Given the description of an element on the screen output the (x, y) to click on. 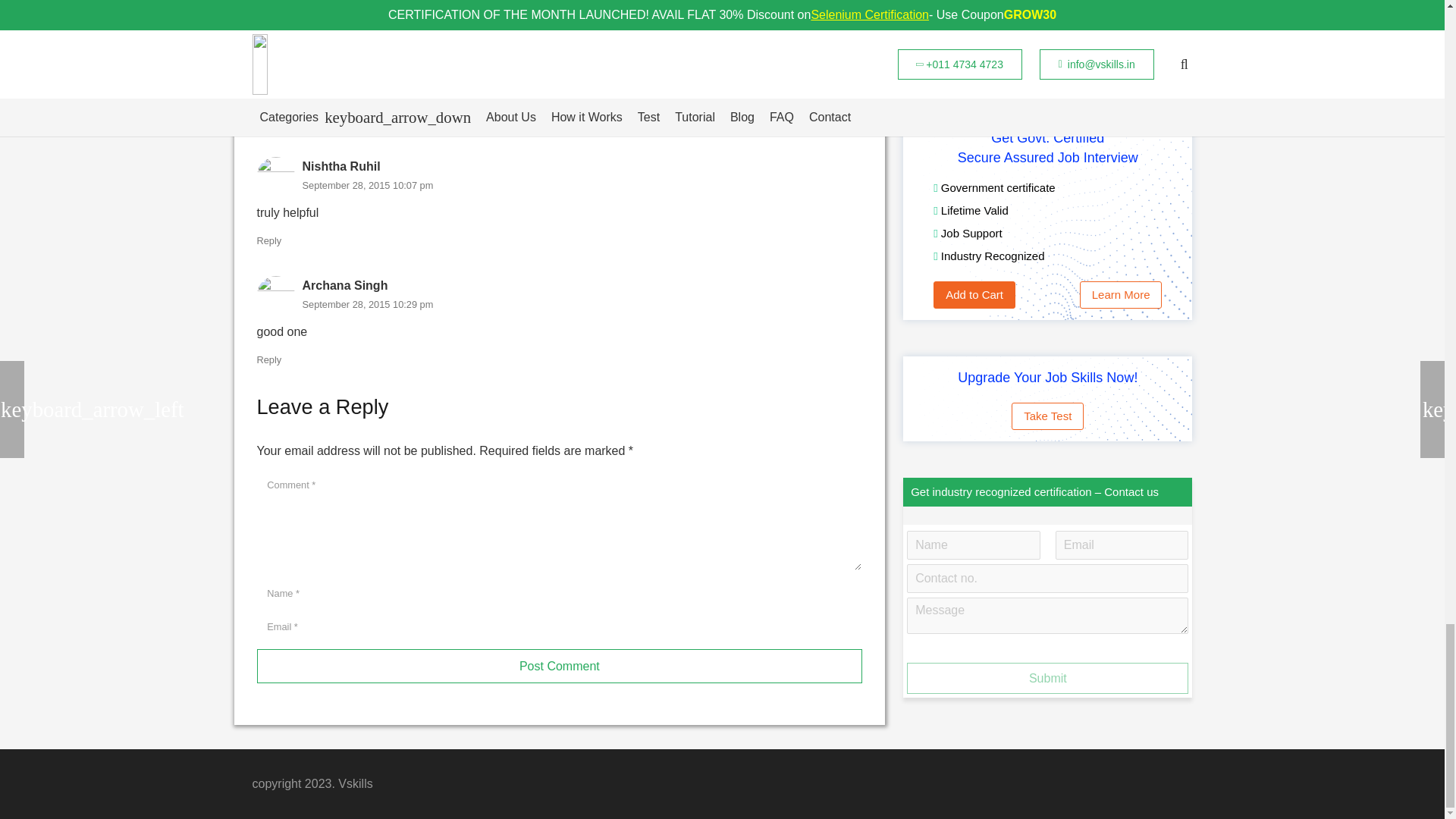
September 28, 2015 8:27 pm (364, 66)
September 28, 2015 10:29 pm (366, 304)
September 28, 2015 10:07 pm (366, 184)
